Given the description of an element on the screen output the (x, y) to click on. 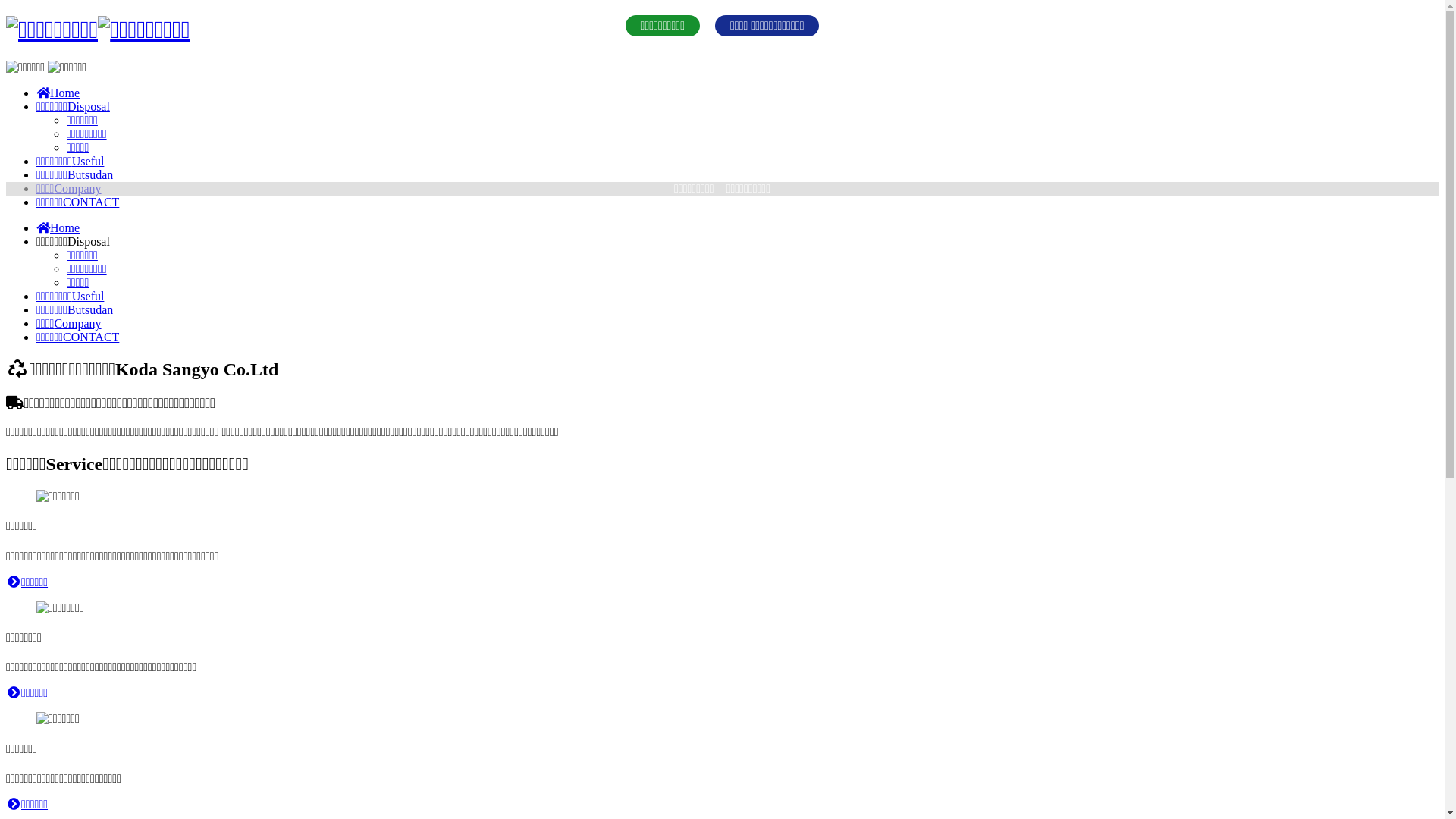
Home Element type: text (57, 227)
Home Element type: text (57, 92)
